Given the description of an element on the screen output the (x, y) to click on. 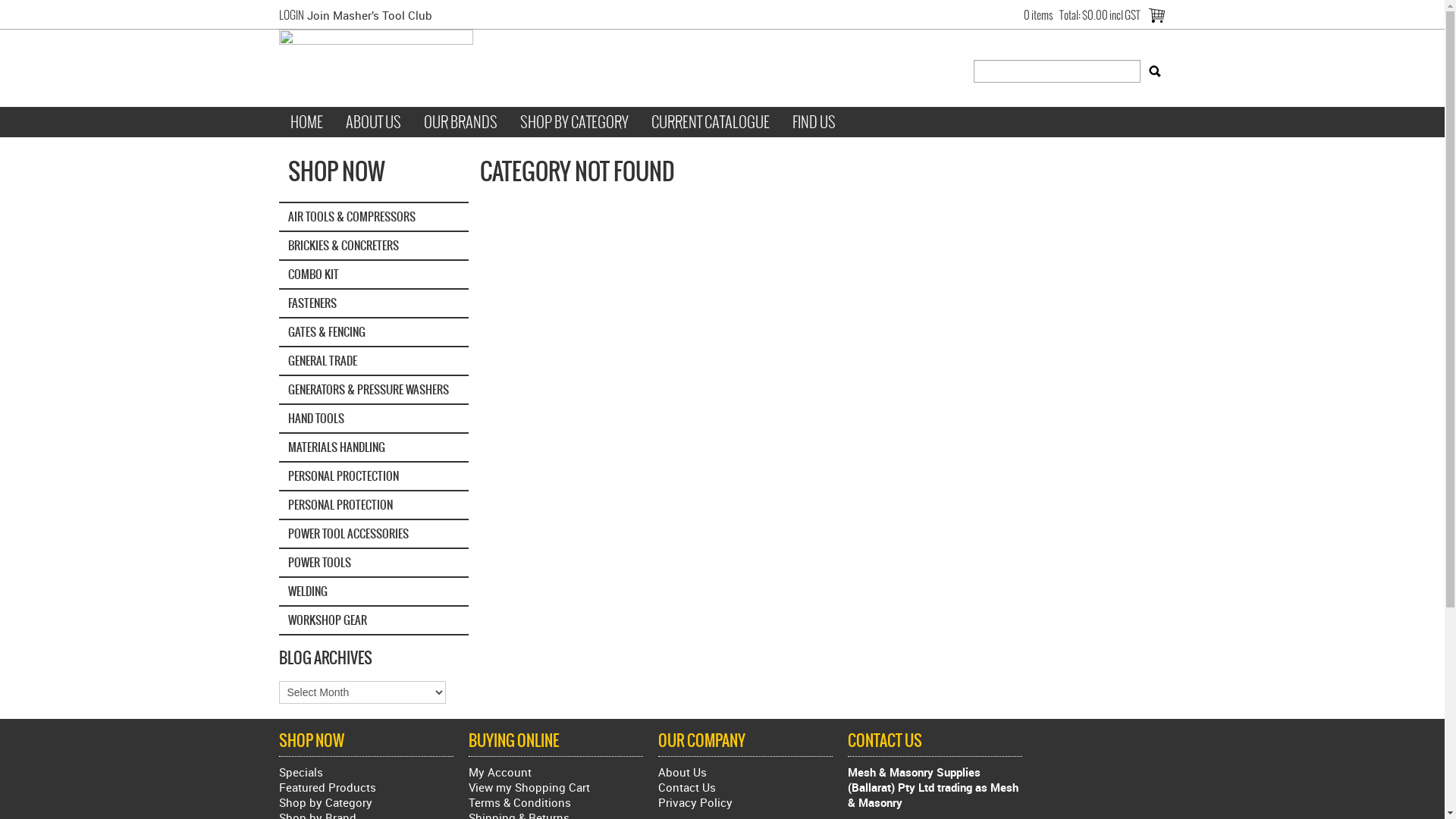
FIND US Element type: text (814, 121)
Featured Products Element type: text (327, 786)
0 items Element type: text (1038, 14)
CURRENT CATALOGUE Element type: text (710, 121)
HAND TOOLS Element type: text (373, 418)
COMBO KIT Element type: text (373, 274)
POWER TOOLS Element type: text (373, 563)
Shop by Category Element type: text (325, 801)
About Us Element type: text (745, 771)
My Account Element type: text (555, 771)
Privacy Policy Element type: text (745, 801)
POWER TOOL ACCESSORIES Element type: text (373, 534)
WELDING Element type: text (373, 591)
BRICKIES & CONCRETERS Element type: text (373, 246)
Total: $0.00 incl GST Element type: text (1098, 14)
HOME Element type: text (306, 121)
Search Element type: text (1154, 70)
LOGIN Element type: text (291, 14)
PERSONAL PROTECTION Element type: text (373, 505)
AIR TOOLS & COMPRESSORS Element type: text (373, 216)
Contact Us Element type: text (745, 786)
GENERATORS & PRESSURE WASHERS Element type: text (373, 390)
View my Shopping Cart Element type: text (555, 786)
PERSONAL PROCTECTION Element type: text (373, 476)
ABOUT US Element type: text (372, 121)
GENERAL TRADE Element type: text (373, 361)
SHOP BY CATEGORY Element type: text (573, 121)
Terms & Conditions Element type: text (555, 801)
Specials Element type: text (301, 771)
FASTENERS Element type: text (373, 303)
WORKSHOP GEAR Element type: text (373, 620)
MATERIALS HANDLING Element type: text (373, 447)
GATES & FENCING Element type: text (373, 332)
OUR BRANDS Element type: text (460, 121)
